Given the description of an element on the screen output the (x, y) to click on. 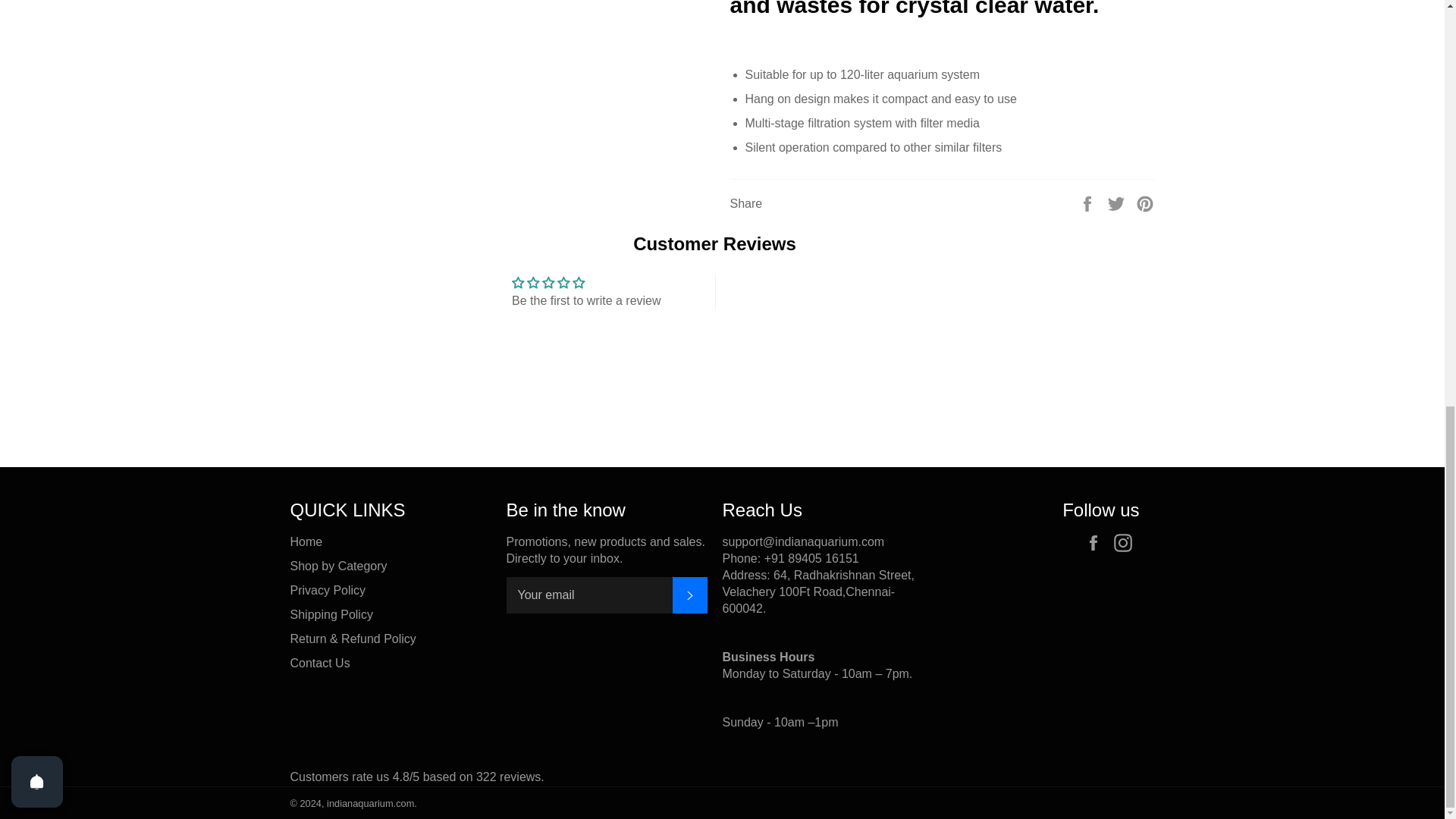
Tweet on Twitter (1117, 202)
indianaquarium.com on Facebook (1096, 542)
Share on Facebook (1088, 202)
indianaquarium.com on Instagram (1125, 542)
Pin on Pinterest (1144, 202)
